Given the description of an element on the screen output the (x, y) to click on. 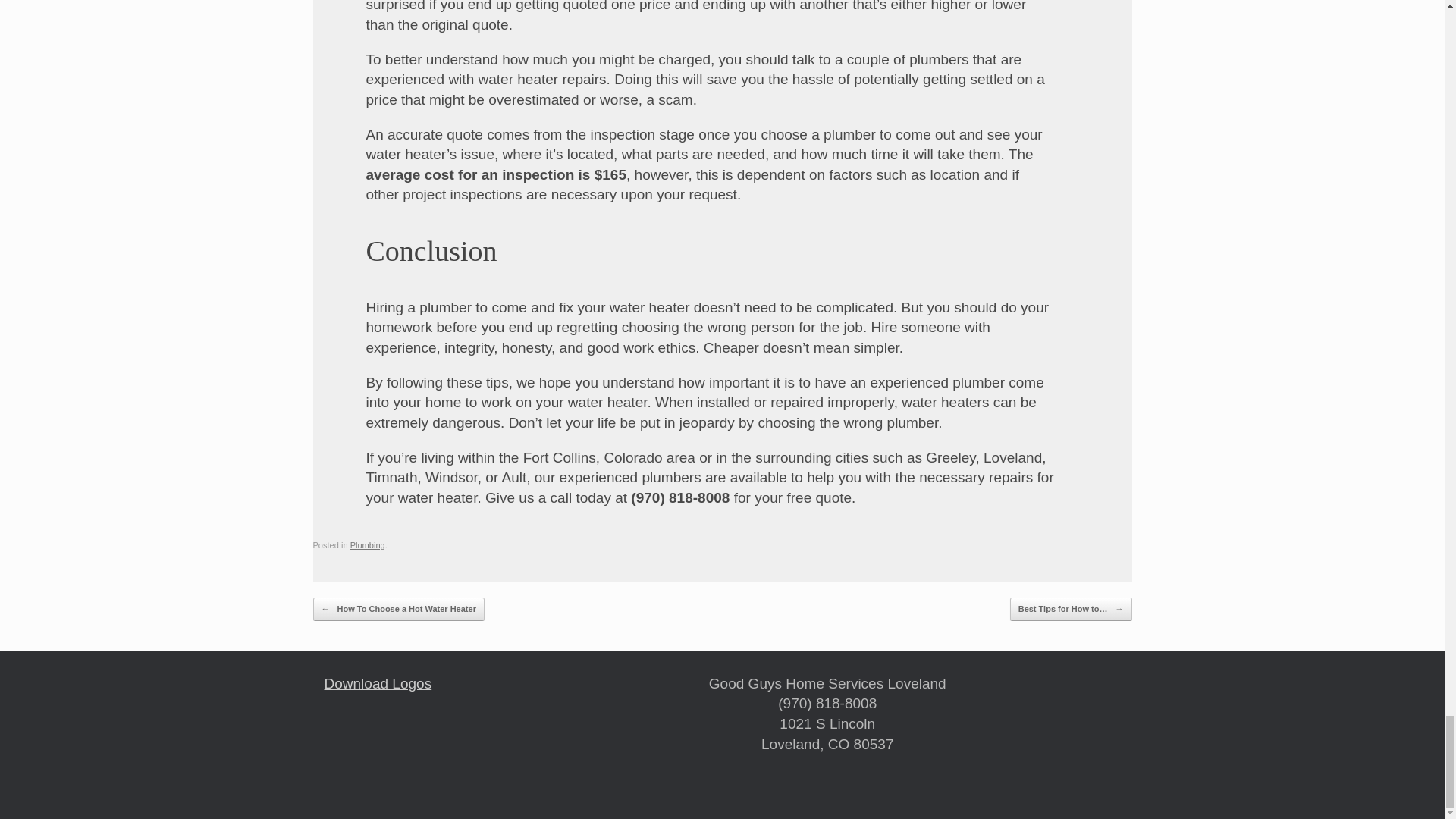
Download Logos (378, 683)
Plumbing (367, 544)
